Given the description of an element on the screen output the (x, y) to click on. 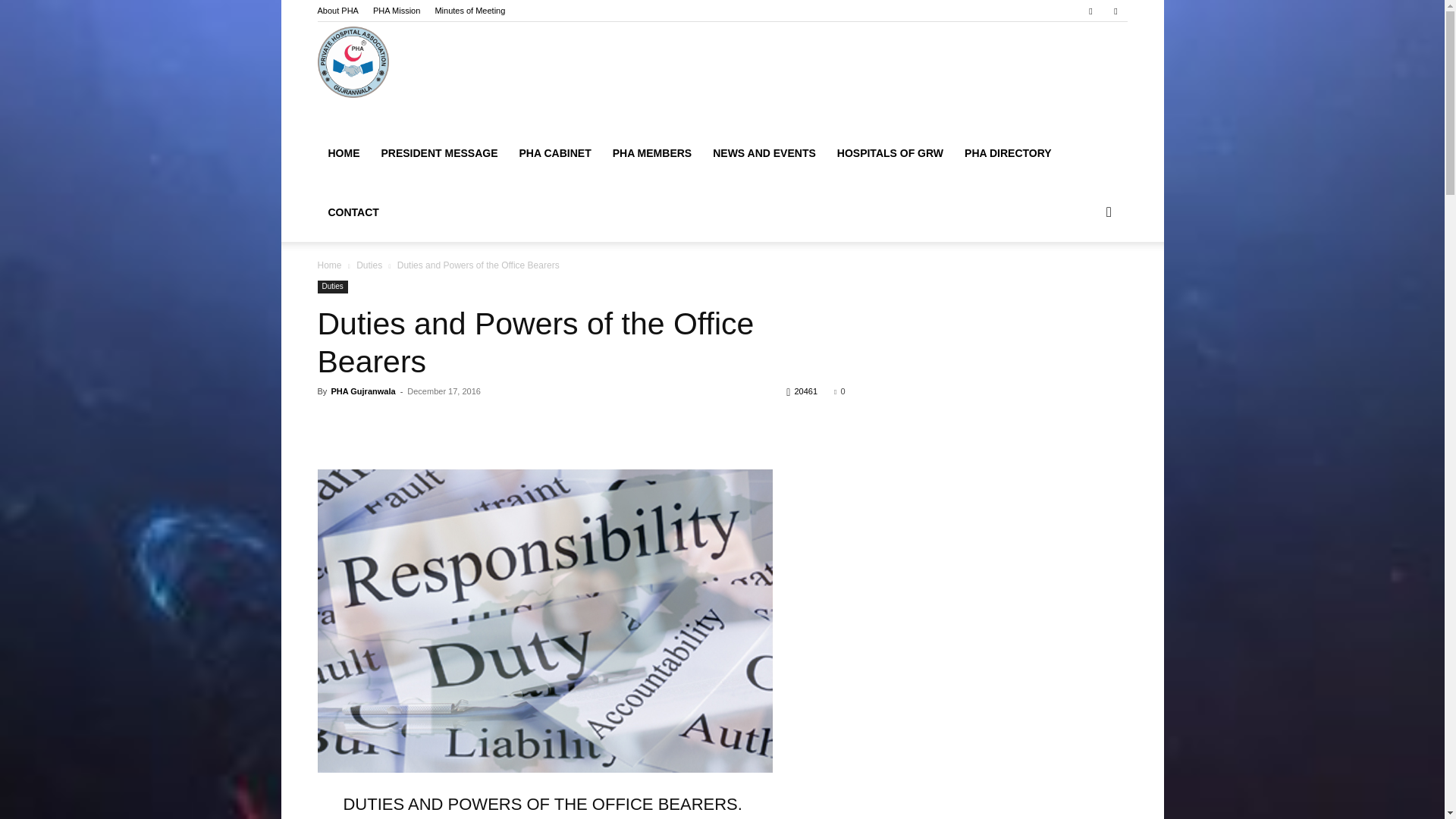
HOSPITALS OF GRW (890, 152)
View all posts in Duties (368, 265)
PHA Gujranwala (362, 390)
PRESIDENT MESSAGE (438, 152)
PHA Mission (396, 10)
Twitter (1114, 10)
NEWS AND EVENTS (764, 152)
PHA MEMBERS (652, 152)
PHA DIRECTORY (1007, 152)
